Given the description of an element on the screen output the (x, y) to click on. 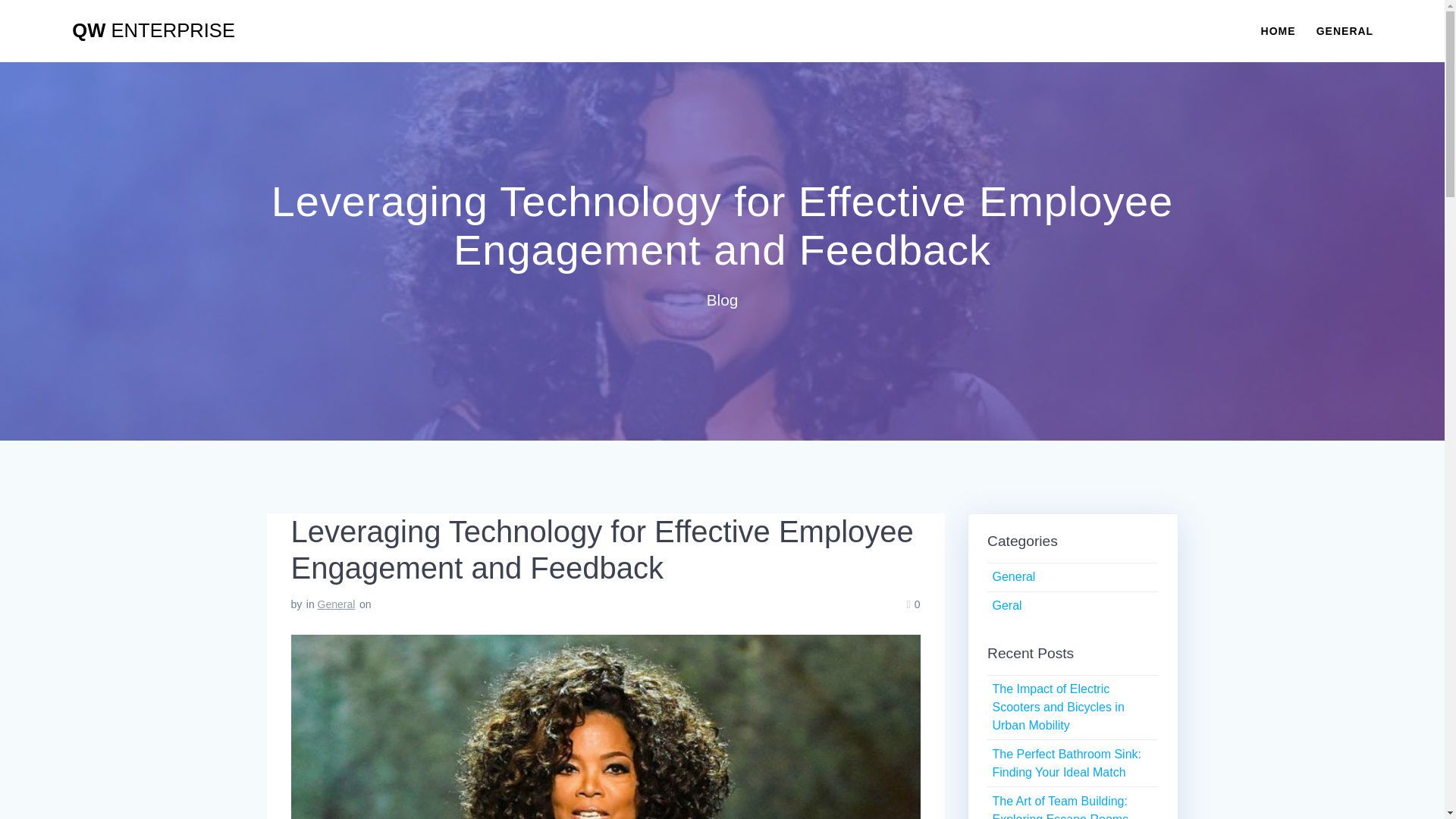
General (1013, 576)
Geral (1006, 604)
QW ENTERPRISE (152, 30)
GENERAL (1344, 30)
The Perfect Bathroom Sink: Finding Your Ideal Match (1066, 762)
HOME (1277, 30)
The Art of Team Building: Exploring Escape Rooms (1059, 806)
General (336, 604)
